Given the description of an element on the screen output the (x, y) to click on. 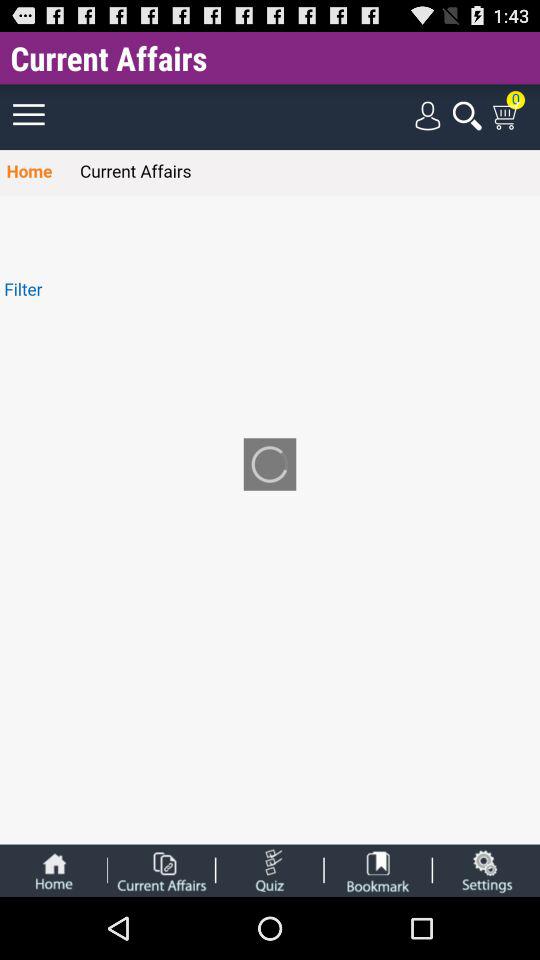
bookmark the page (378, 870)
